Given the description of an element on the screen output the (x, y) to click on. 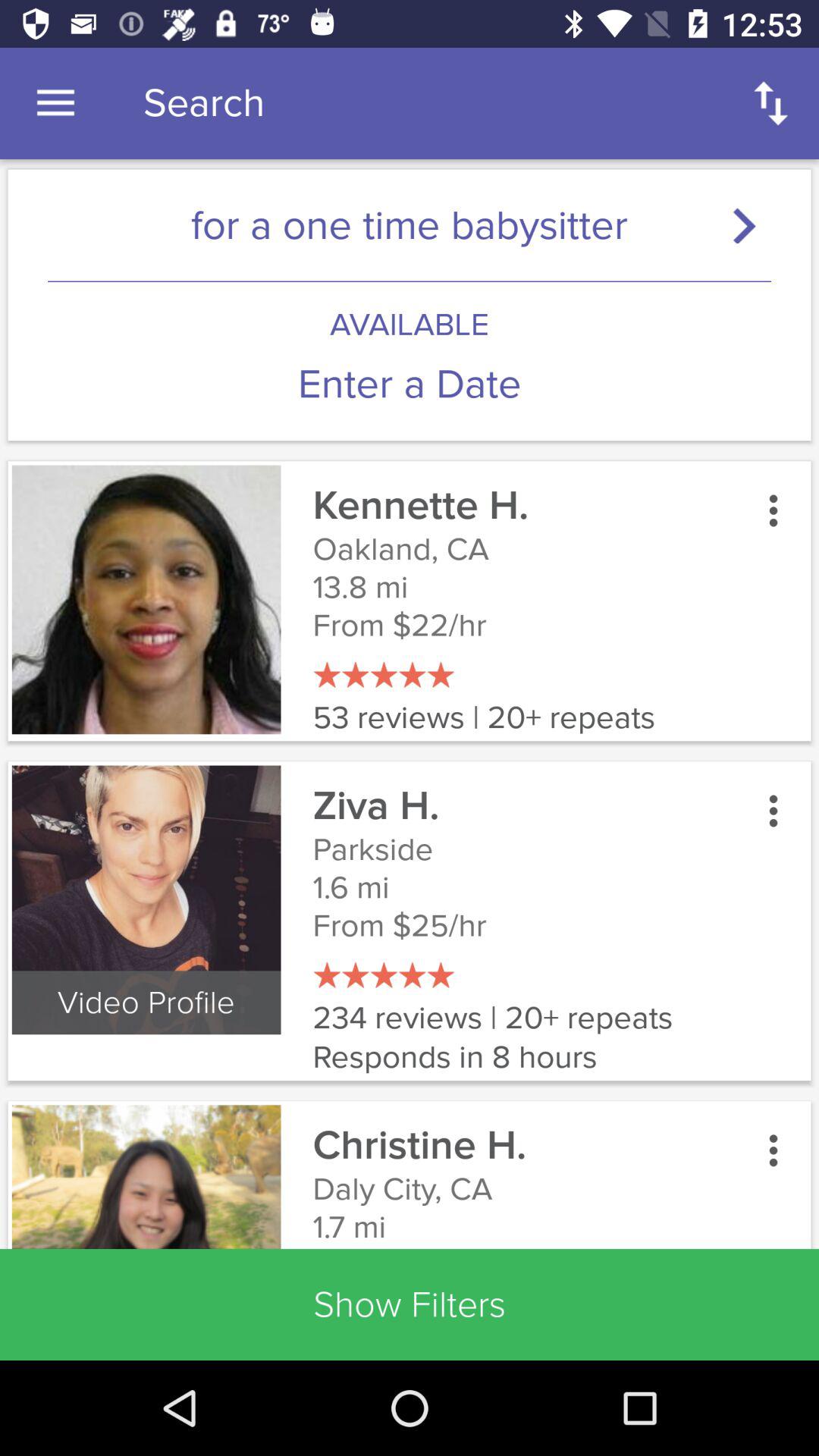
turn off icon to the right of search icon (771, 103)
